Given the description of an element on the screen output the (x, y) to click on. 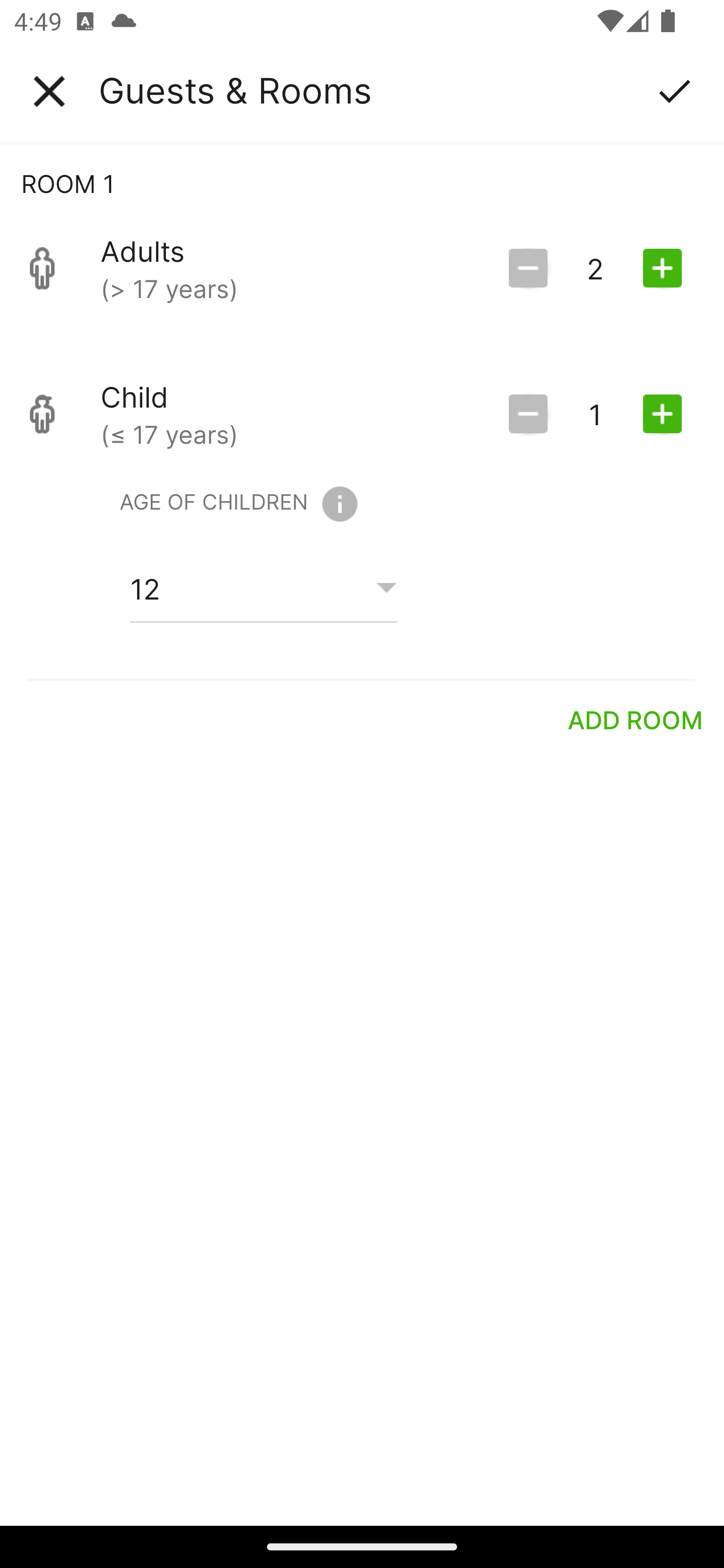
AGE OF CHILDREN (238, 504)
12 (263, 588)
ADD ROOM (635, 719)
